Given the description of an element on the screen output the (x, y) to click on. 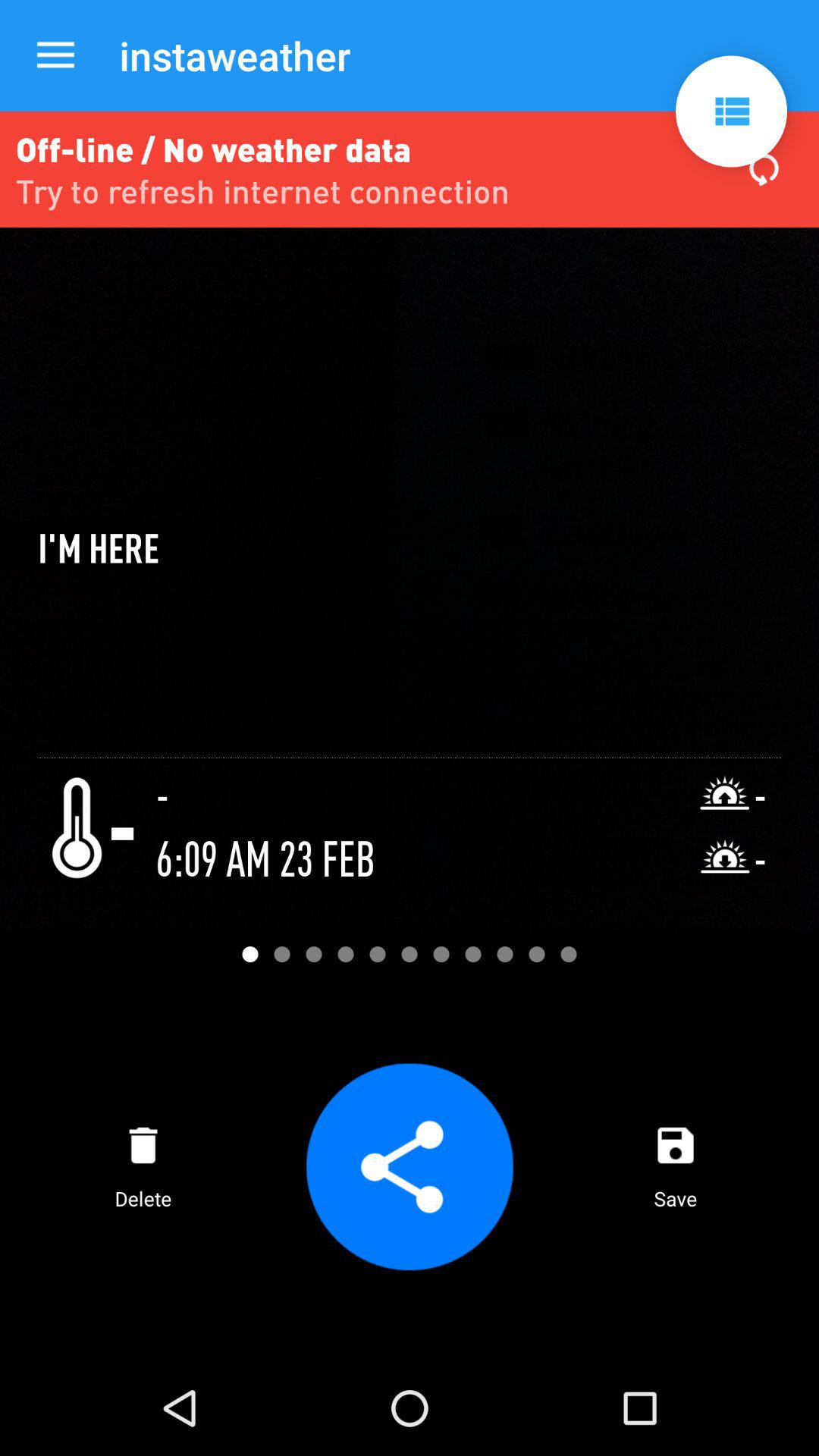
turn on app to the right of the instaweather item (731, 111)
